Given the description of an element on the screen output the (x, y) to click on. 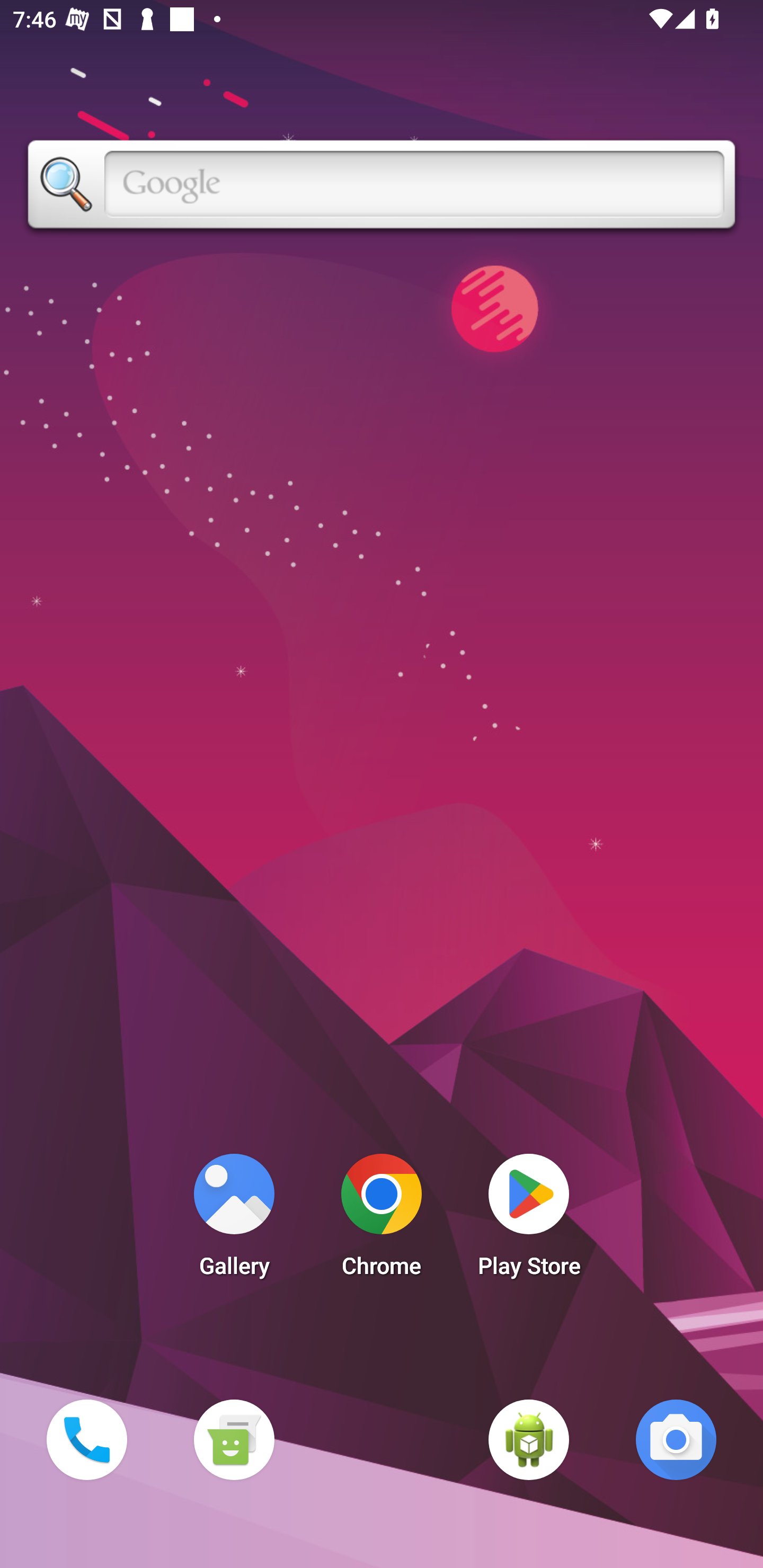
Gallery (233, 1220)
Chrome (381, 1220)
Play Store (528, 1220)
Phone (86, 1439)
Messaging (233, 1439)
WebView Browser Tester (528, 1439)
Camera (676, 1439)
